Given the description of an element on the screen output the (x, y) to click on. 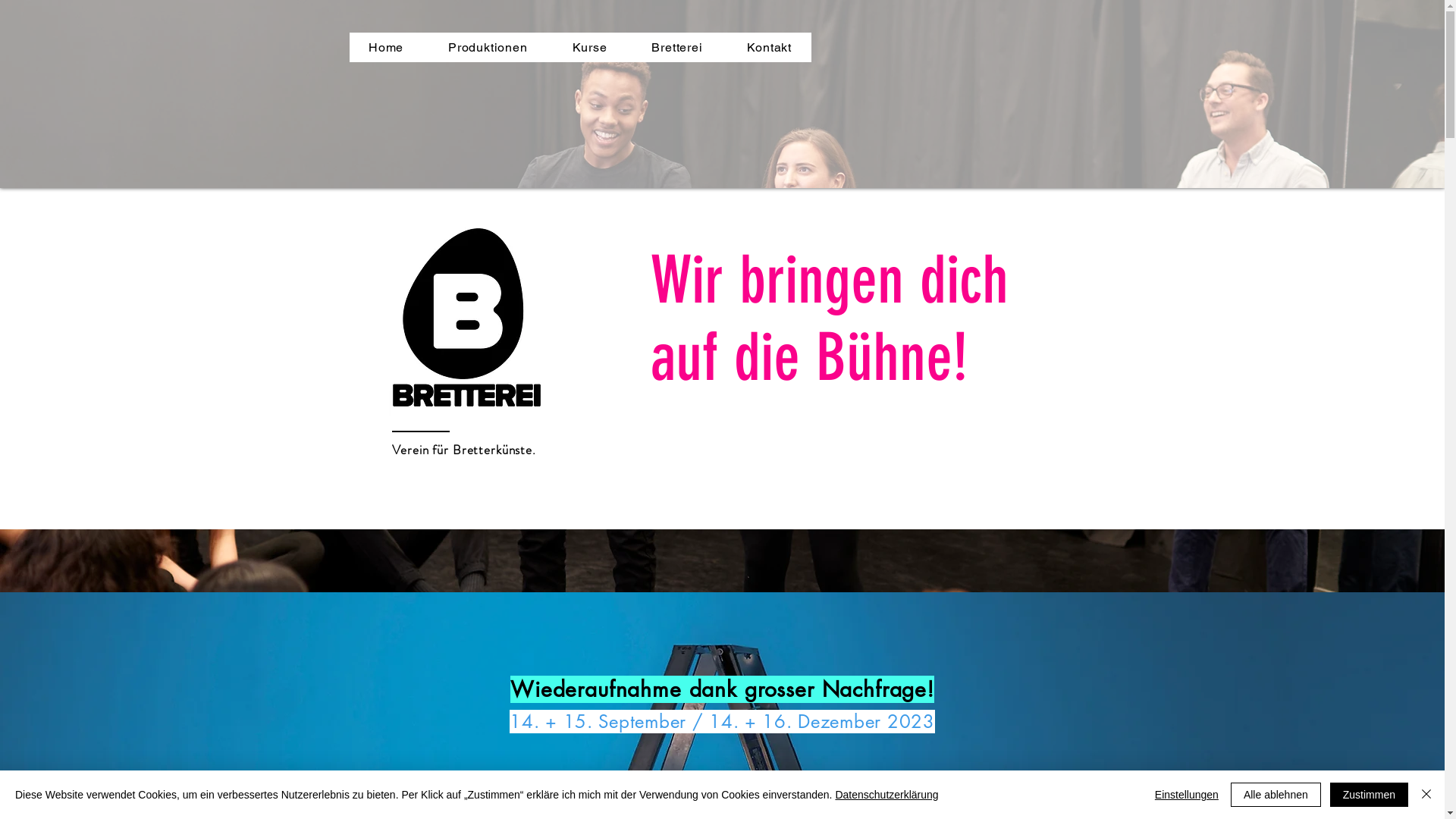
Alle ablehnen Element type: text (1275, 794)
Home Element type: text (385, 47)
Produktionen Element type: text (487, 47)
Zustimmen Element type: text (1369, 794)
Kurse Element type: text (589, 47)
Kontakt Element type: text (769, 47)
Bretterei Element type: text (676, 47)
